Given the description of an element on the screen output the (x, y) to click on. 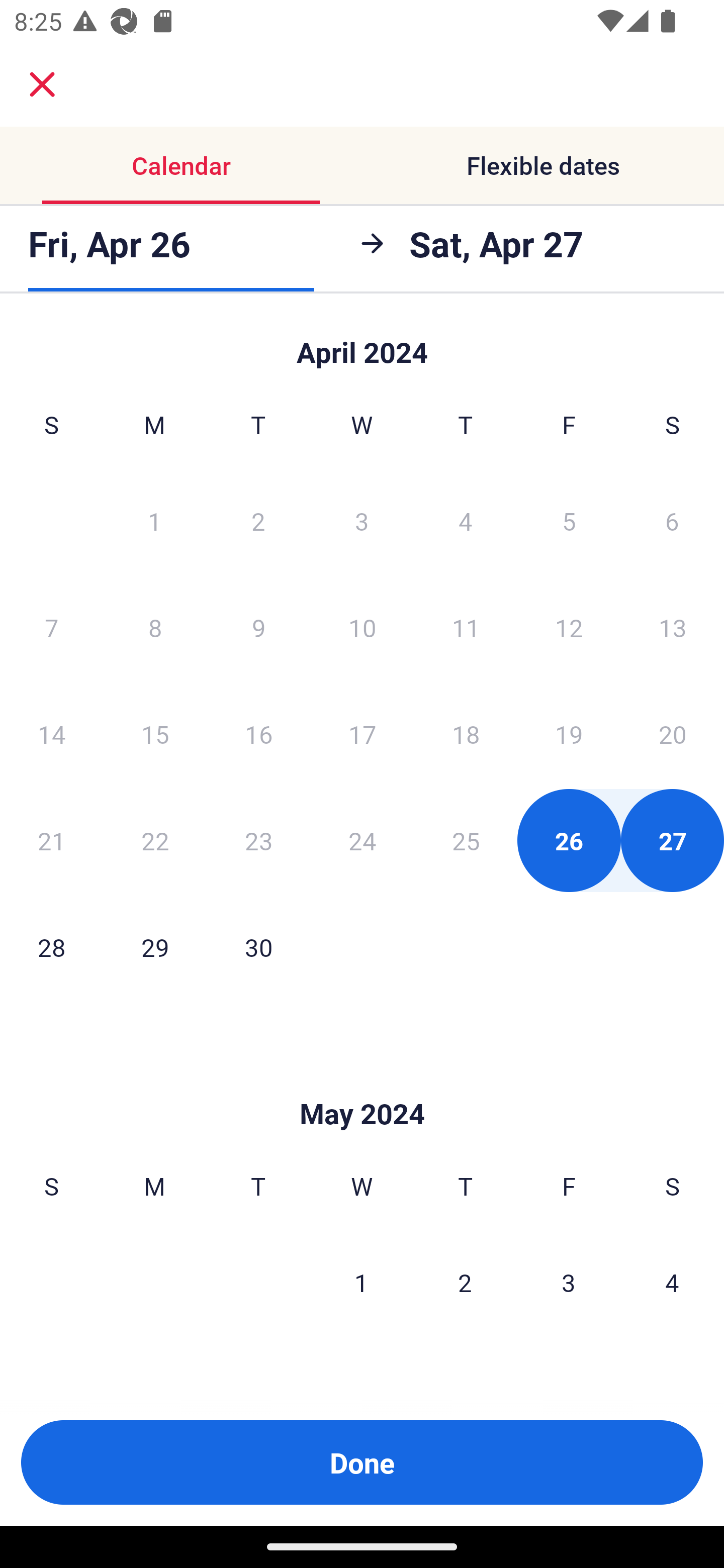
close. (42, 84)
Flexible dates (542, 164)
Skip to Done (362, 343)
1 Monday, April 1, 2024 (154, 520)
2 Tuesday, April 2, 2024 (257, 520)
3 Wednesday, April 3, 2024 (361, 520)
4 Thursday, April 4, 2024 (465, 520)
5 Friday, April 5, 2024 (568, 520)
6 Saturday, April 6, 2024 (672, 520)
7 Sunday, April 7, 2024 (51, 626)
8 Monday, April 8, 2024 (155, 626)
9 Tuesday, April 9, 2024 (258, 626)
10 Wednesday, April 10, 2024 (362, 626)
11 Thursday, April 11, 2024 (465, 626)
12 Friday, April 12, 2024 (569, 626)
13 Saturday, April 13, 2024 (672, 626)
14 Sunday, April 14, 2024 (51, 733)
15 Monday, April 15, 2024 (155, 733)
16 Tuesday, April 16, 2024 (258, 733)
17 Wednesday, April 17, 2024 (362, 733)
18 Thursday, April 18, 2024 (465, 733)
19 Friday, April 19, 2024 (569, 733)
20 Saturday, April 20, 2024 (672, 733)
21 Sunday, April 21, 2024 (51, 840)
22 Monday, April 22, 2024 (155, 840)
23 Tuesday, April 23, 2024 (258, 840)
24 Wednesday, April 24, 2024 (362, 840)
25 Thursday, April 25, 2024 (465, 840)
28 Sunday, April 28, 2024 (51, 946)
29 Monday, April 29, 2024 (155, 946)
30 Tuesday, April 30, 2024 (258, 946)
Skip to Done (362, 1083)
1 Wednesday, May 1, 2024 (361, 1282)
2 Thursday, May 2, 2024 (464, 1282)
3 Friday, May 3, 2024 (568, 1282)
4 Saturday, May 4, 2024 (672, 1282)
Done (361, 1462)
